Given the description of an element on the screen output the (x, y) to click on. 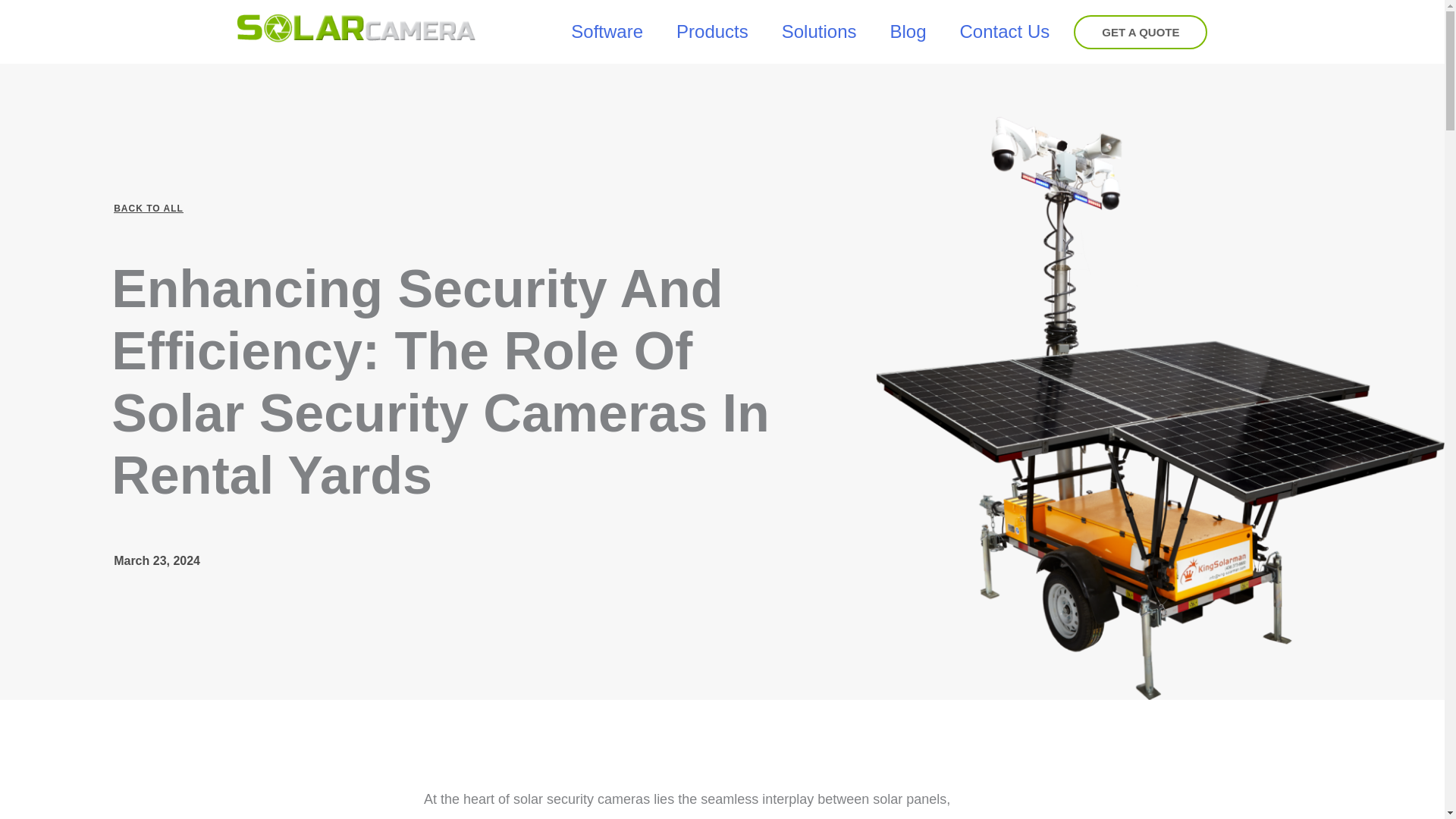
Products (712, 31)
GET A QUOTE (1140, 32)
BACK TO ALL (148, 207)
Blog (907, 31)
Solutions (819, 31)
Contact Us (1005, 31)
Software (606, 31)
